Given the description of an element on the screen output the (x, y) to click on. 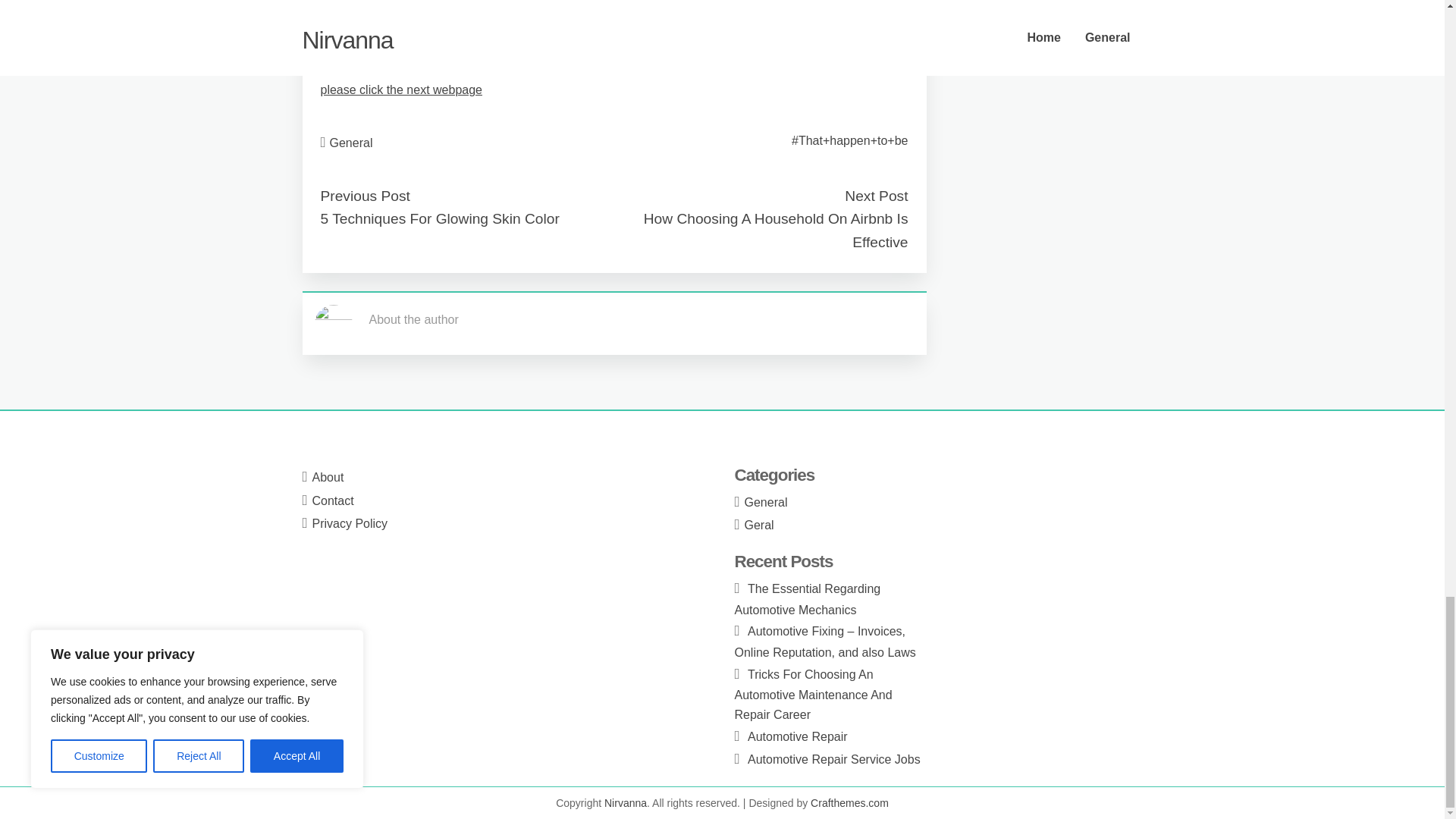
How Choosing A Household On Airbnb Is Effective (775, 230)
5 Techniques For Glowing Skin Color (439, 218)
click through the up coming web site (424, 12)
Next Post (875, 195)
General (351, 142)
Previous Post (364, 195)
click through the up coming website page (431, 51)
please click the next webpage (400, 89)
